Given the description of an element on the screen output the (x, y) to click on. 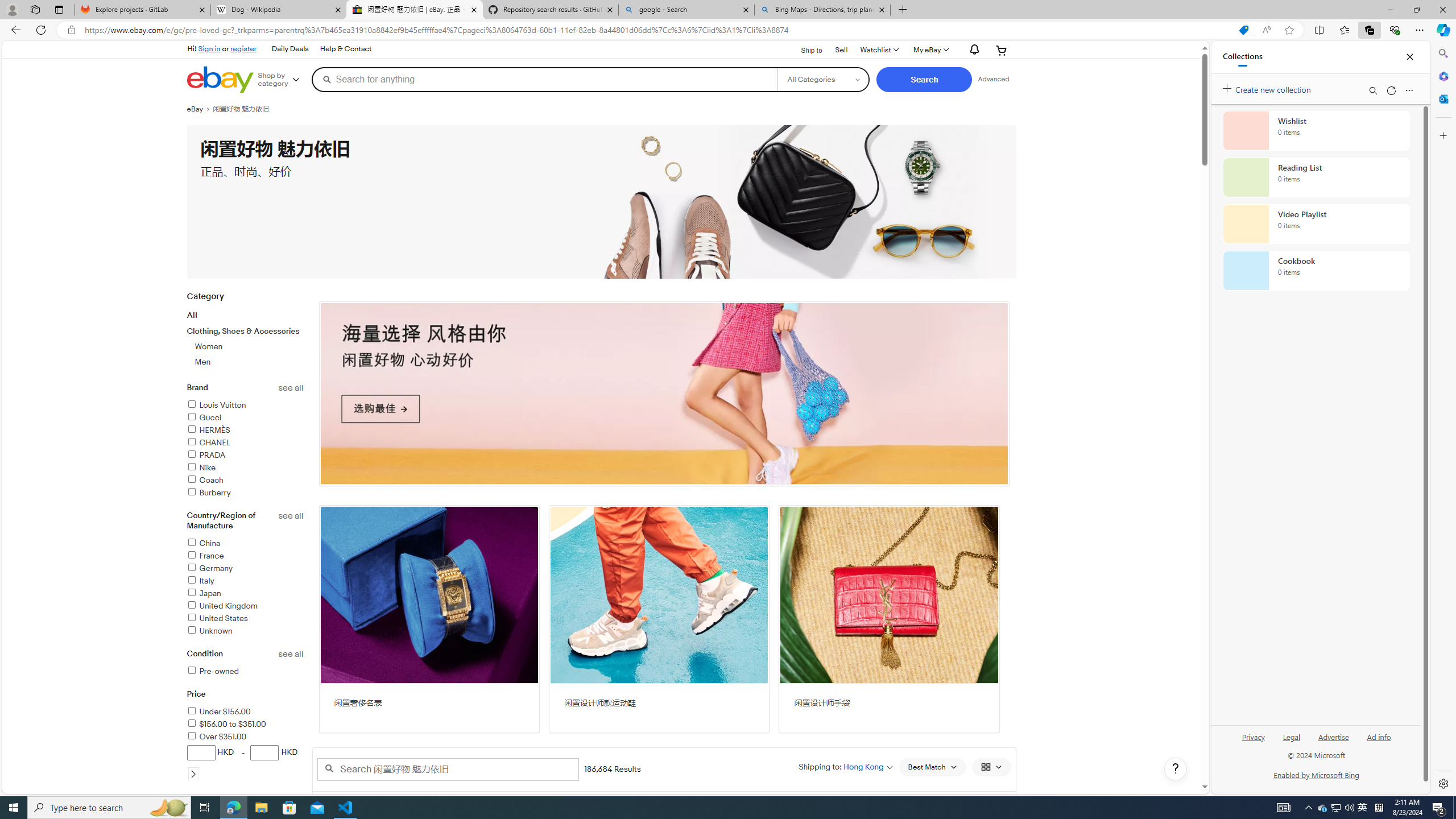
Nike (245, 467)
243 (663, 393)
CHANEL (208, 442)
Burberry (245, 493)
Minimum Value (200, 752)
Conditionsee allPre-owned (245, 668)
Daily Deals (290, 49)
Clothing, Shoes & AccessoriesWomenMen (245, 346)
Gucci (245, 417)
